Given the description of an element on the screen output the (x, y) to click on. 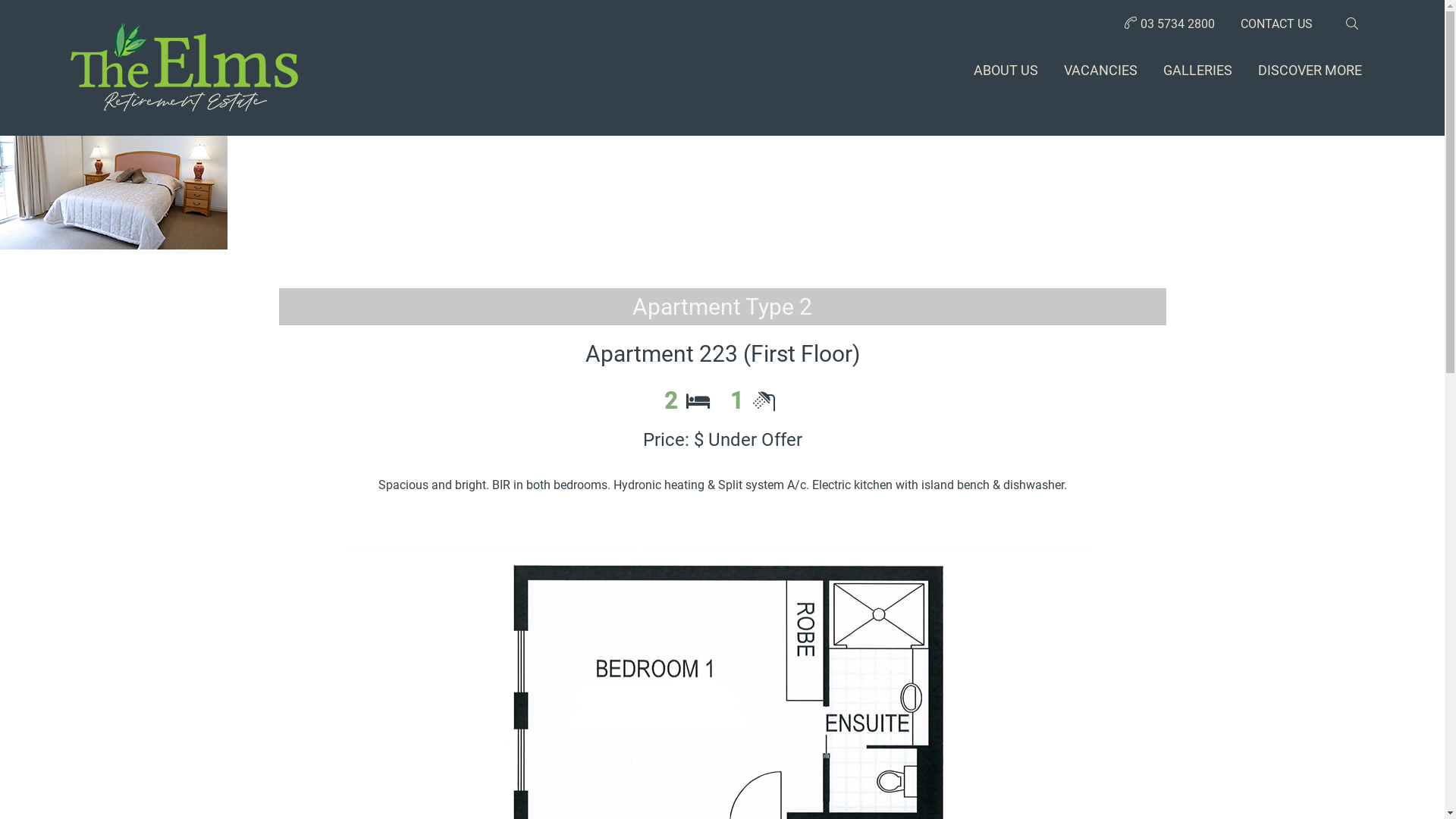
VACANCIES Element type: text (1099, 70)
GALLERIES Element type: text (1197, 70)
CONTACT US Element type: text (1276, 23)
ABOUT US Element type: text (1005, 70)
03 5734 2800 Element type: text (1167, 23)
DISCOVER MORE Element type: text (1309, 70)
